Given the description of an element on the screen output the (x, y) to click on. 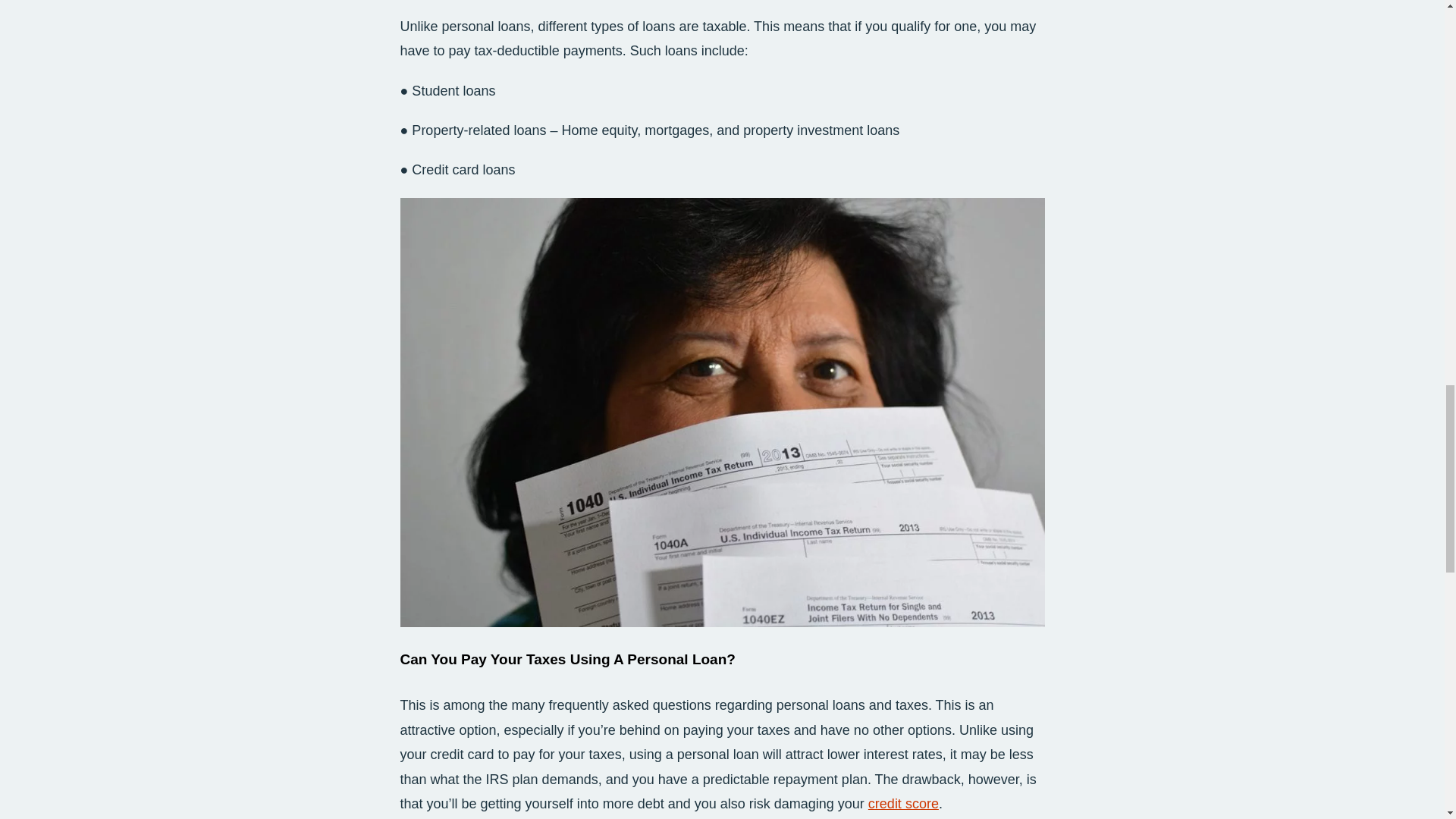
credit score (903, 803)
